Given the description of an element on the screen output the (x, y) to click on. 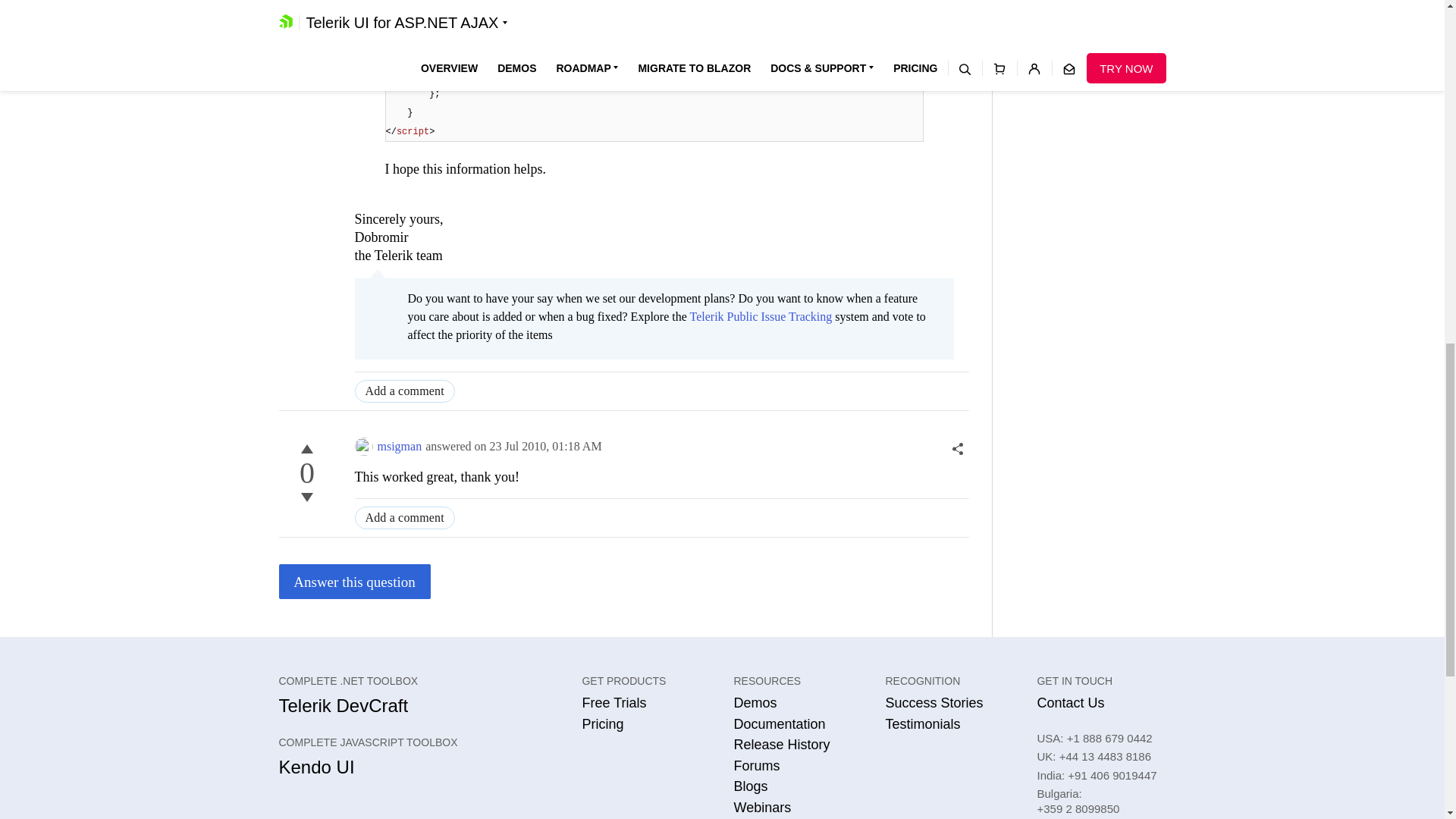
This answer is not helpful. (306, 497)
This answer is helpful. (306, 448)
